Given the description of an element on the screen output the (x, y) to click on. 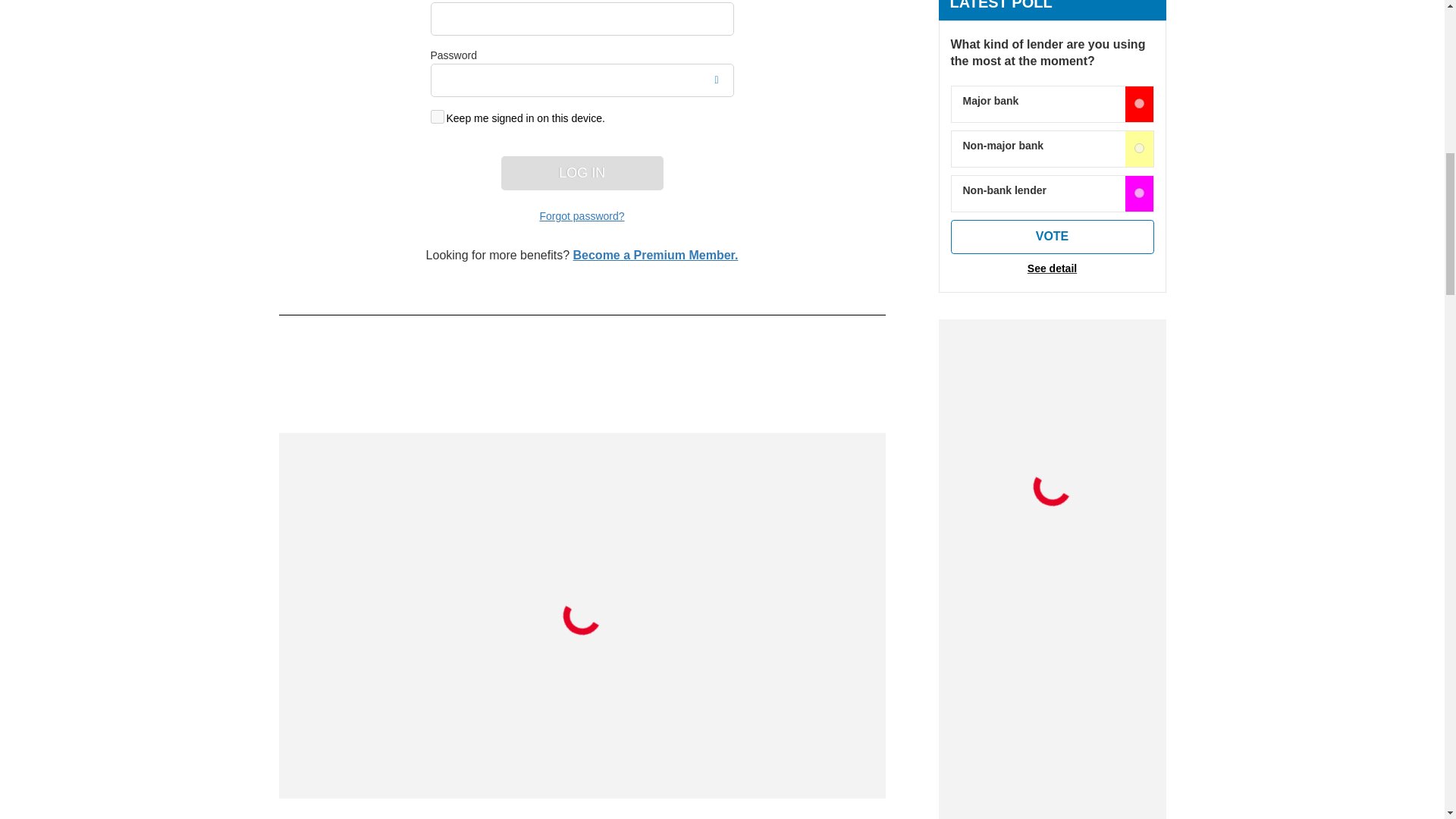
0 (1139, 103)
1 (1139, 148)
2 (1139, 193)
Log in (581, 173)
on (437, 116)
